Given the description of an element on the screen output the (x, y) to click on. 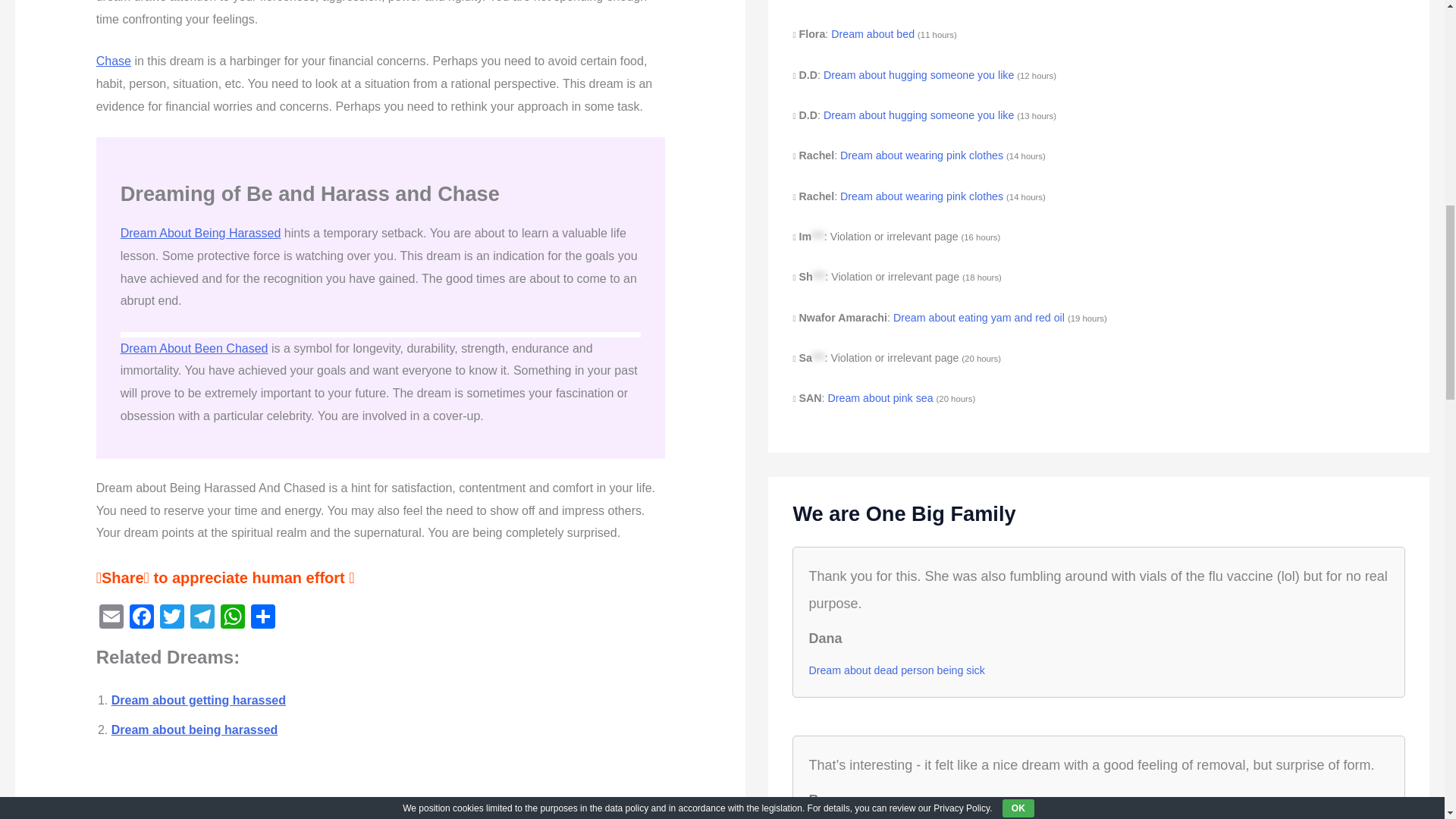
Dream About Being Harassed (200, 232)
Chase (113, 60)
Email (111, 618)
Dream About Been Chased (193, 348)
Facebook (141, 618)
Dream about being harassed (195, 729)
Share (262, 618)
Dream about hugging someone you like (918, 114)
Twitter (172, 618)
Dream about getting harassed (198, 699)
Email (111, 618)
Dream about bed (872, 33)
Dream about hugging someone you like (918, 74)
WhatsApp (231, 618)
Dream about wearing pink clothes (921, 155)
